Given the description of an element on the screen output the (x, y) to click on. 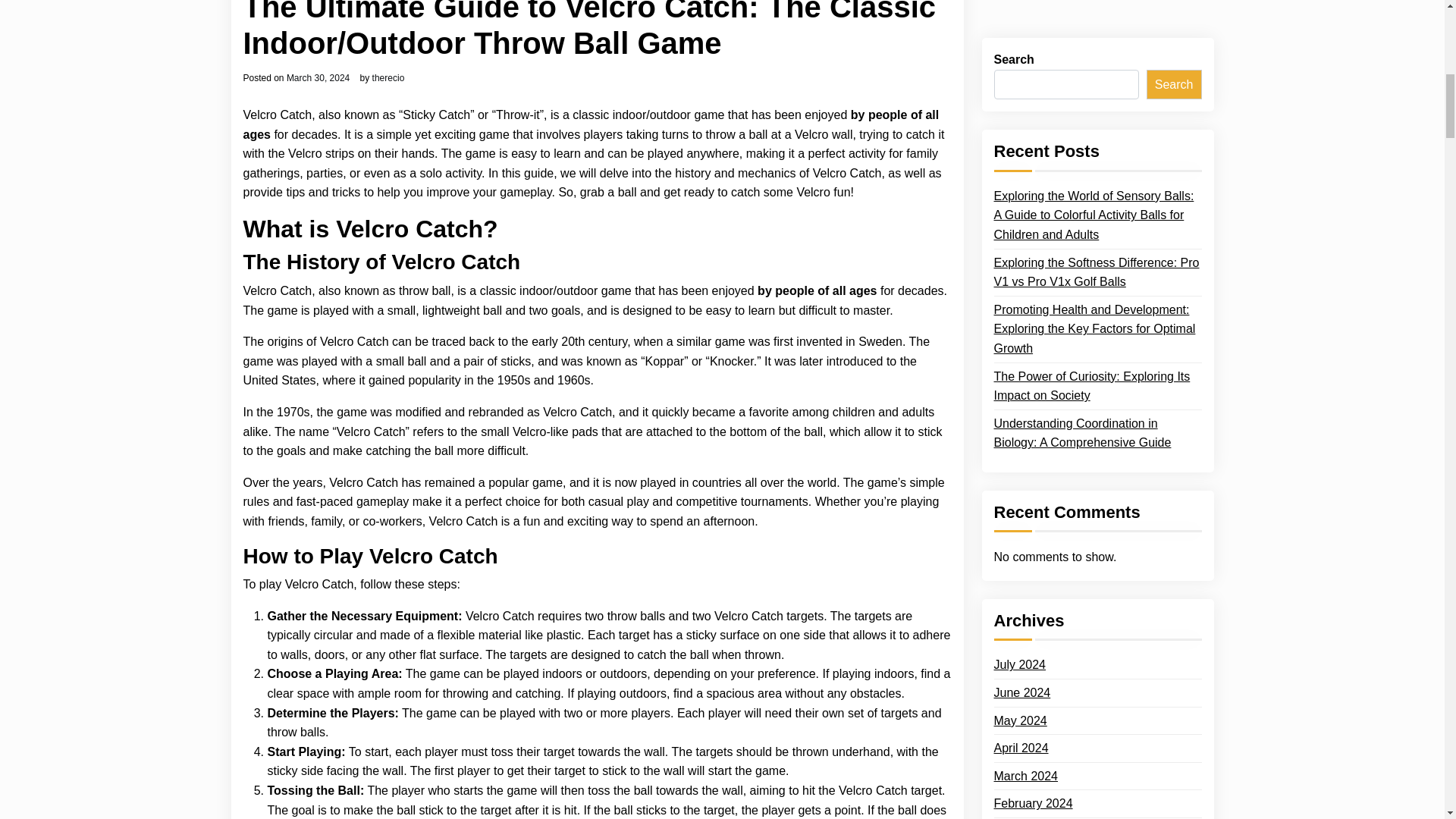
therecio (388, 77)
March 30, 2024 (317, 77)
